Given the description of an element on the screen output the (x, y) to click on. 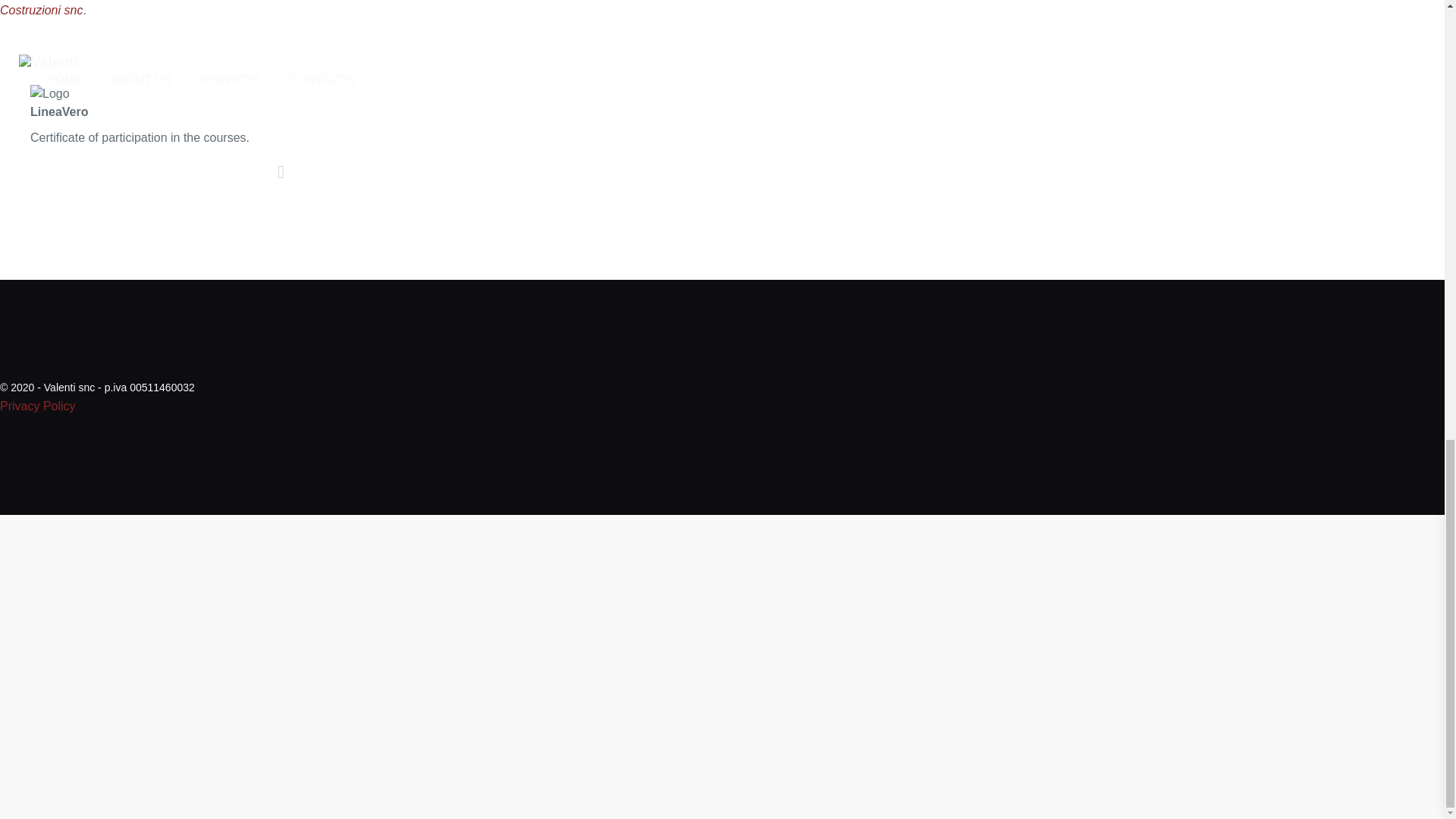
Privacy Policy (37, 405)
Privacy Policy (37, 405)
